Given the description of an element on the screen output the (x, y) to click on. 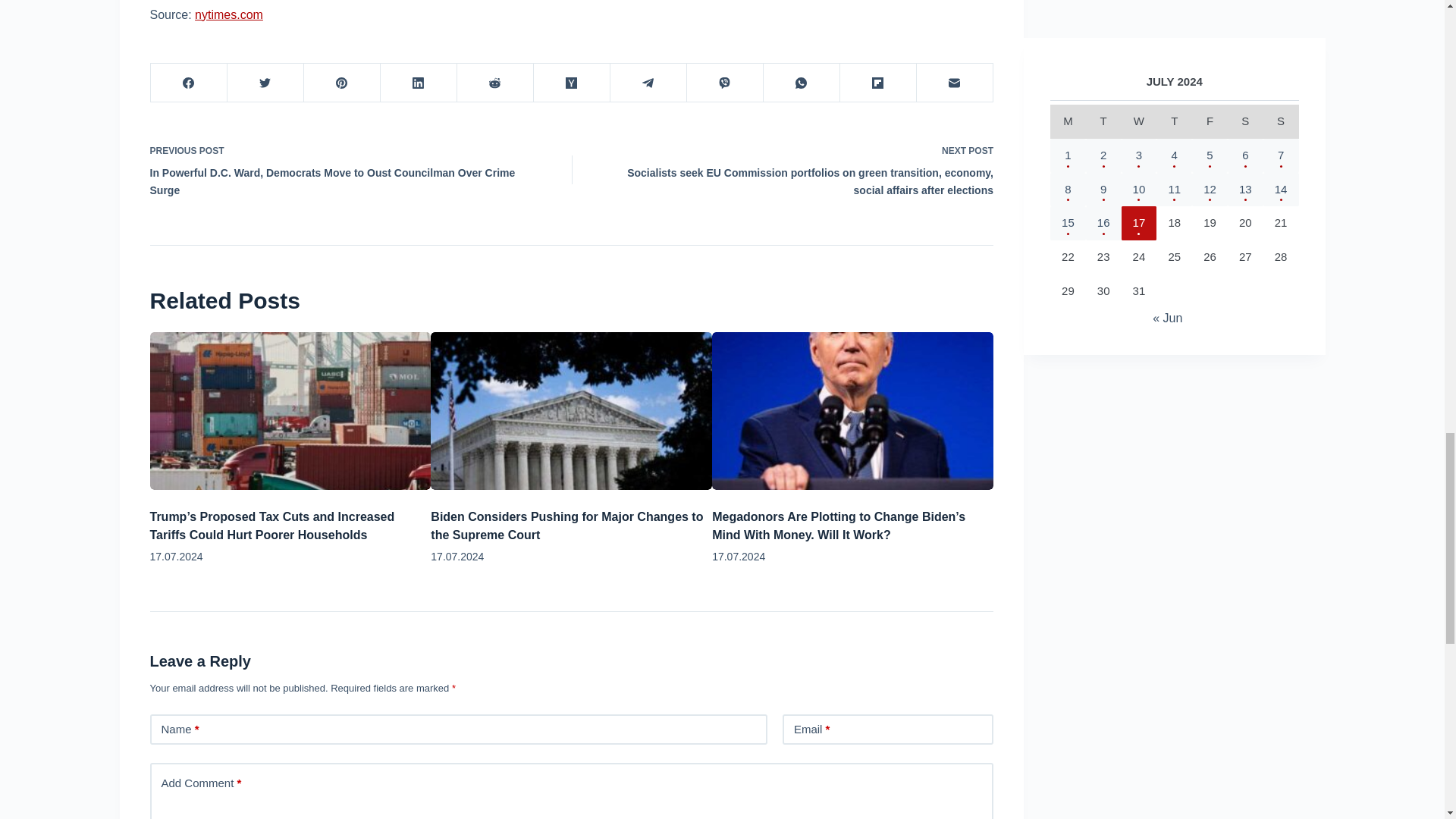
nytimes.com (229, 14)
